Given the description of an element on the screen output the (x, y) to click on. 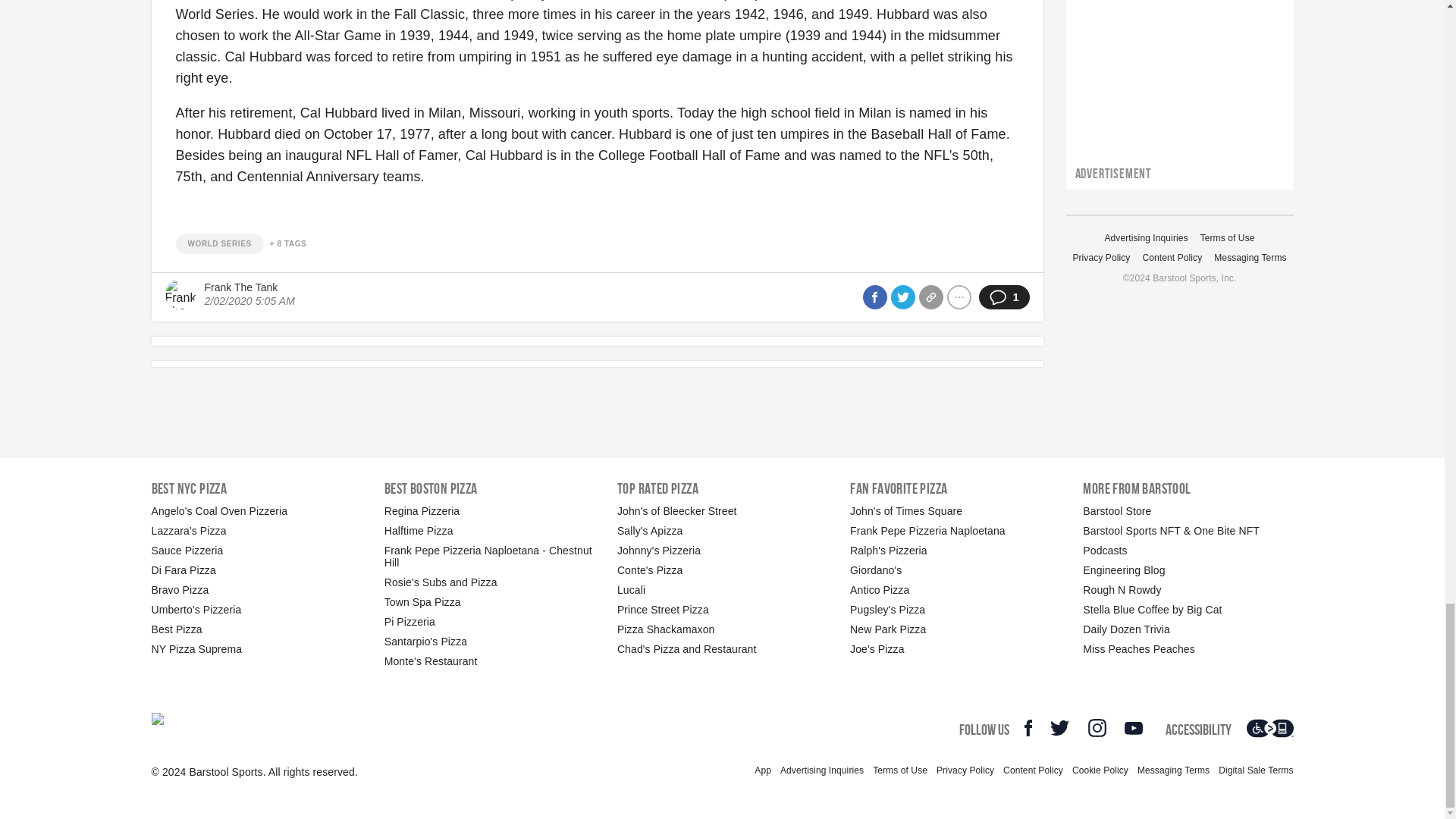
Instagram Icon (1096, 728)
Level Access website accessibility icon (1270, 728)
Twitter Icon (1058, 728)
YouTube Icon (1132, 728)
